Given the description of an element on the screen output the (x, y) to click on. 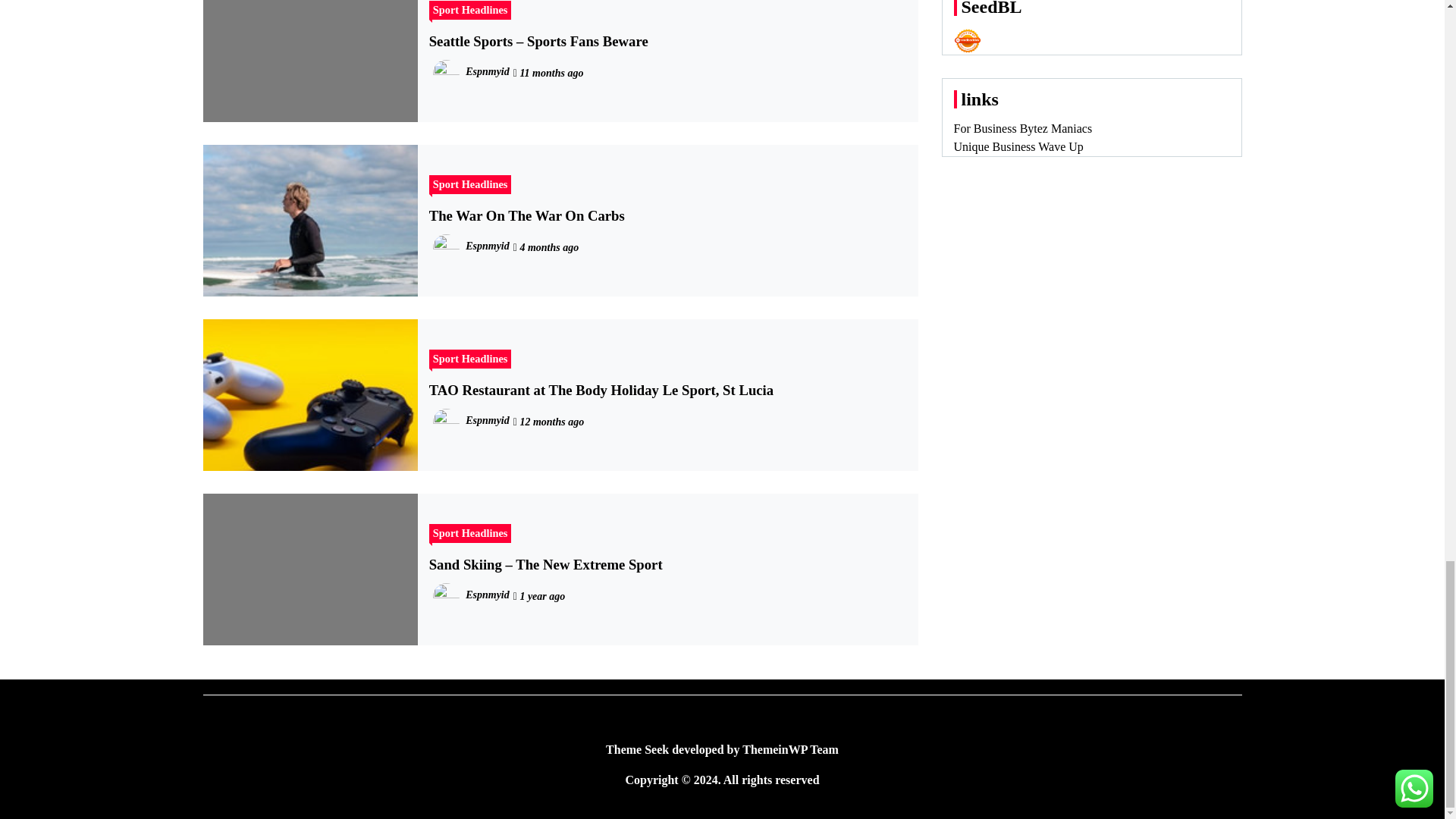
Seedbacklink (967, 40)
